Given the description of an element on the screen output the (x, y) to click on. 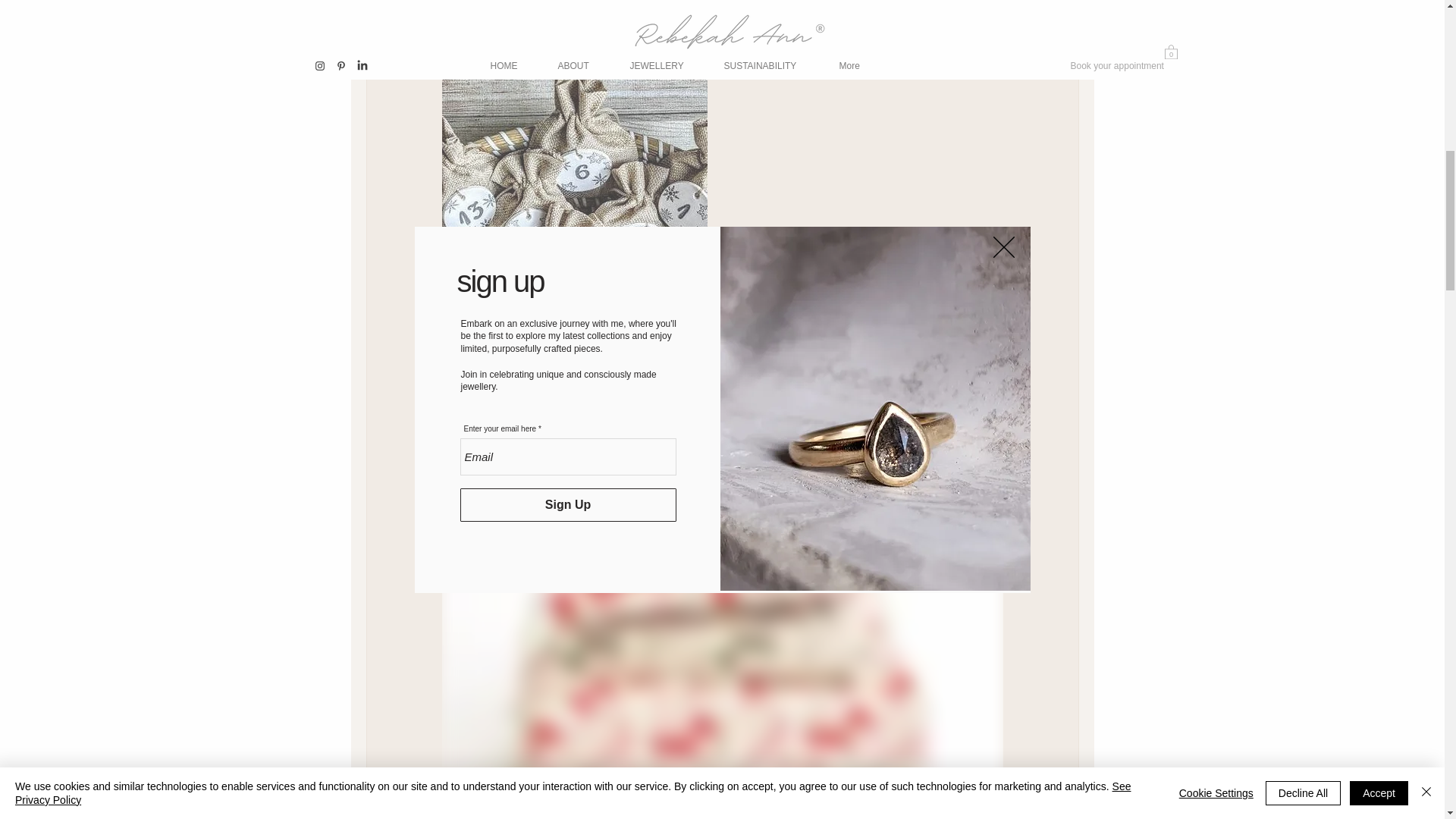
happywrap (561, 381)
